Given the description of an element on the screen output the (x, y) to click on. 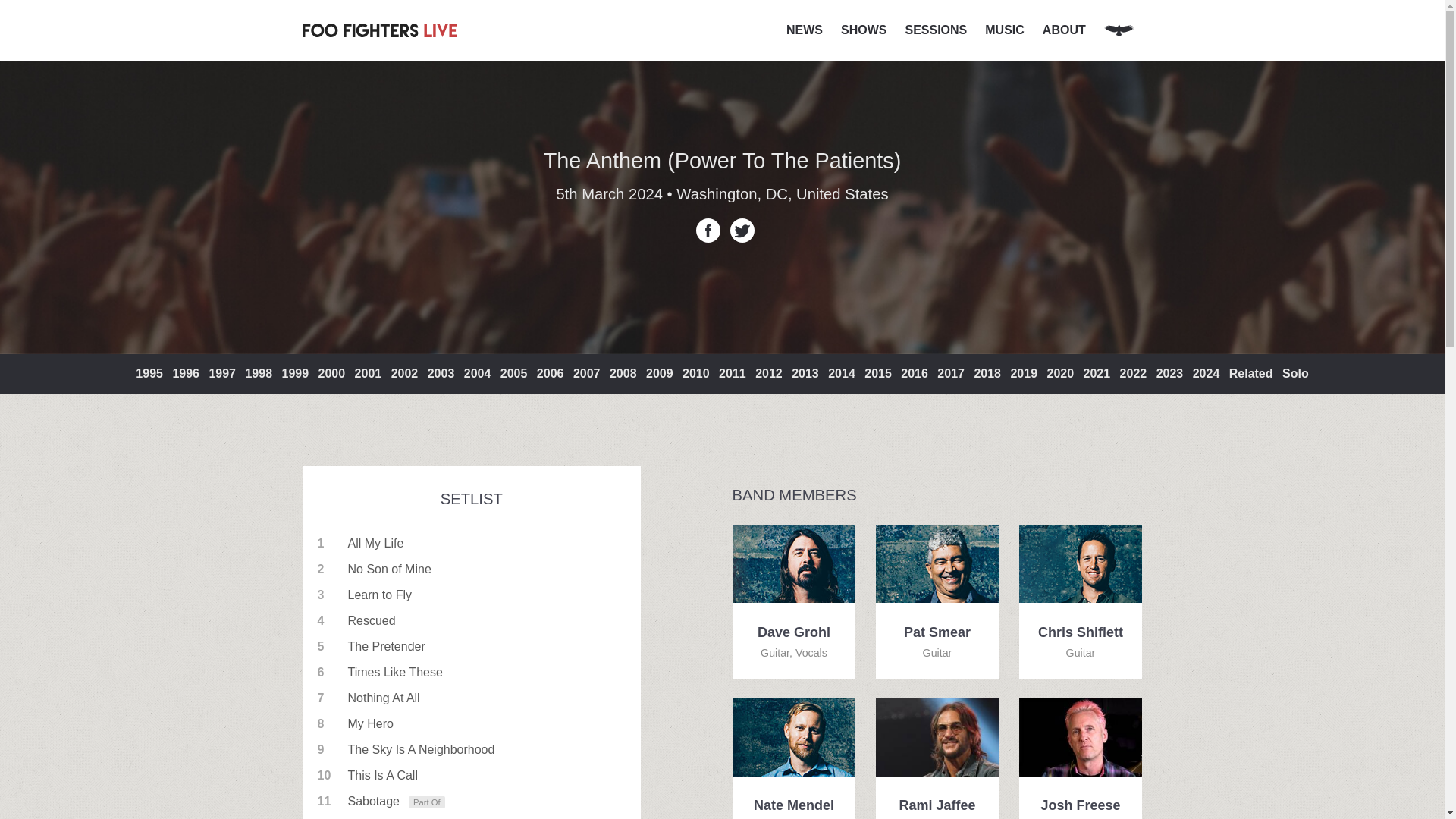
Share on Facebook (707, 230)
Twitter (742, 230)
MUSIC (1004, 30)
Share on Twitter (742, 230)
SESSIONS (935, 30)
NEWS (804, 30)
SHOWS (863, 30)
ABOUT (1063, 30)
Facebook (707, 230)
